Given the description of an element on the screen output the (x, y) to click on. 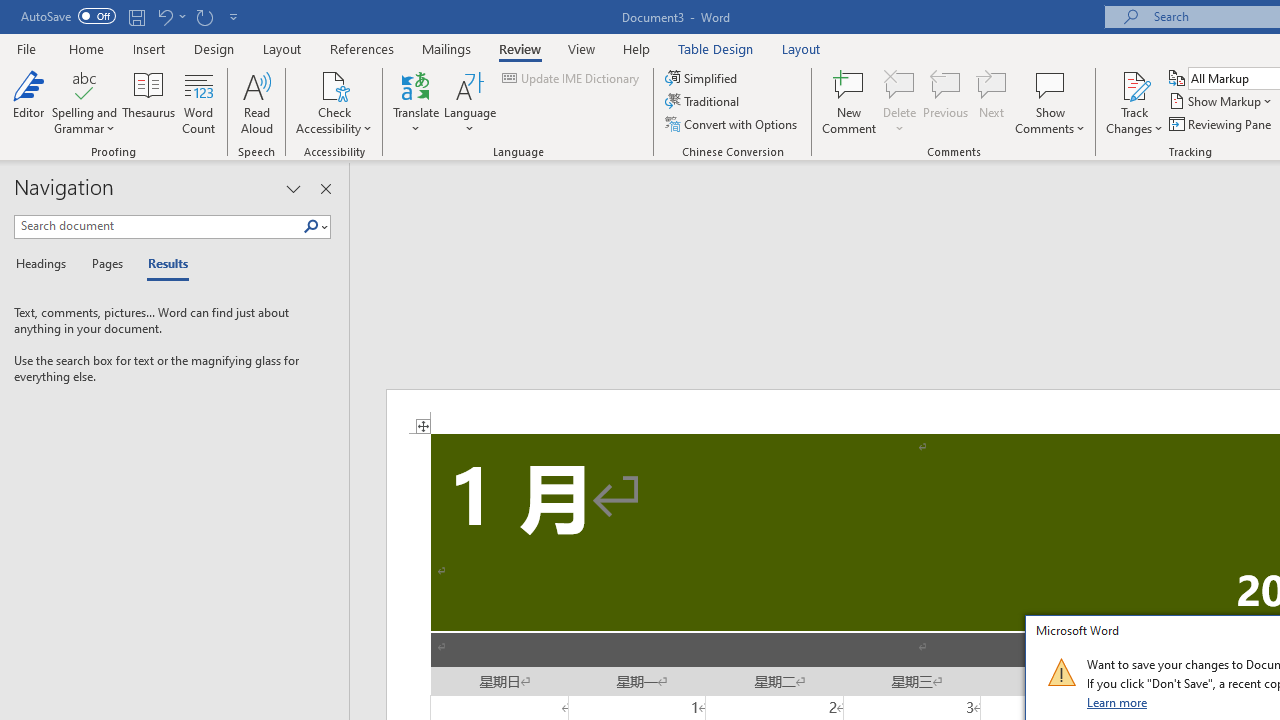
Delete (900, 102)
Check Accessibility (334, 84)
Next (991, 102)
Show Comments (1050, 102)
Track Changes (1134, 84)
Reviewing Pane (1221, 124)
